Given the description of an element on the screen output the (x, y) to click on. 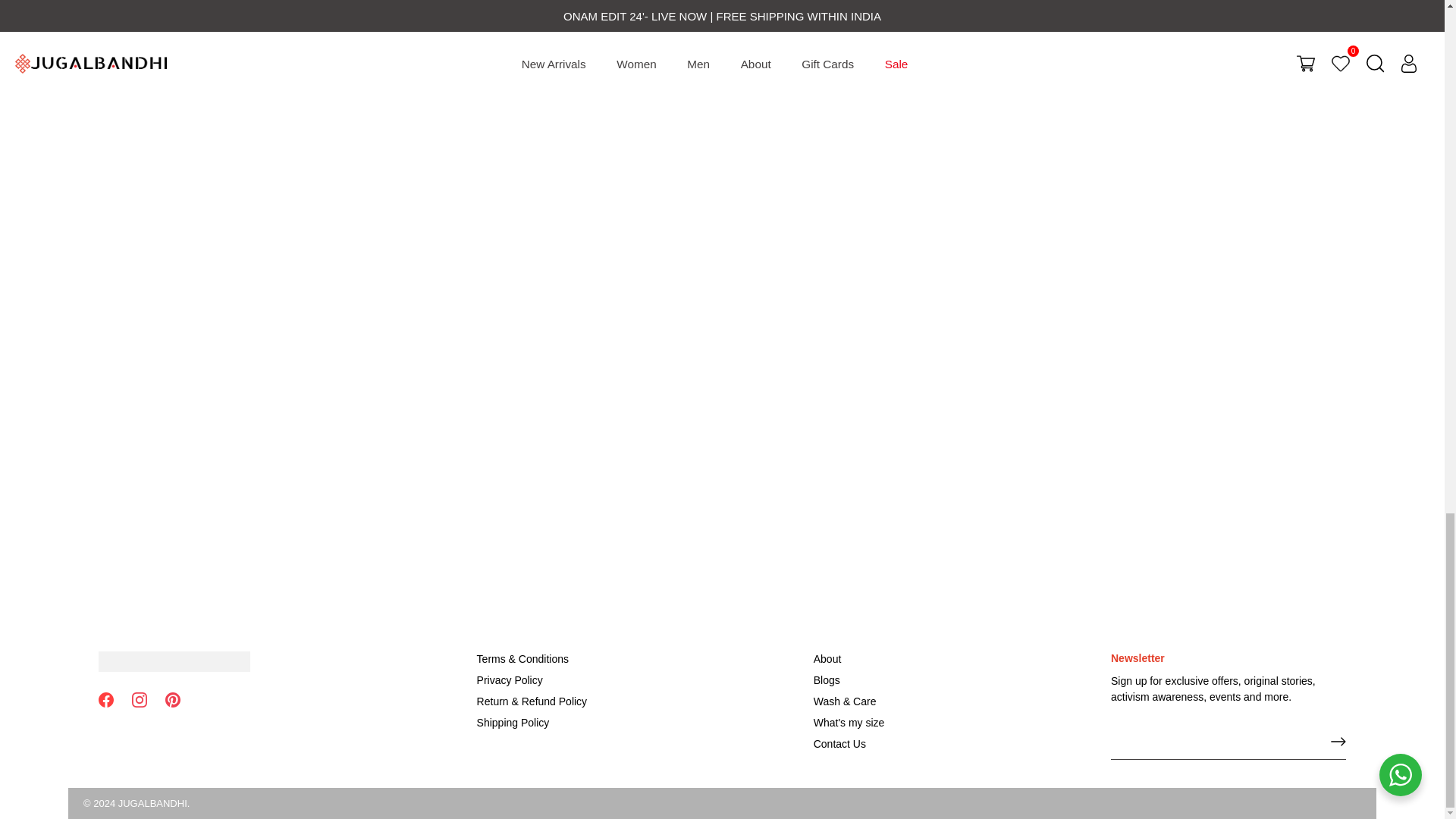
RIGHT ARROW LONG (1337, 741)
Instagram (139, 699)
Pinterest (172, 699)
